Given the description of an element on the screen output the (x, y) to click on. 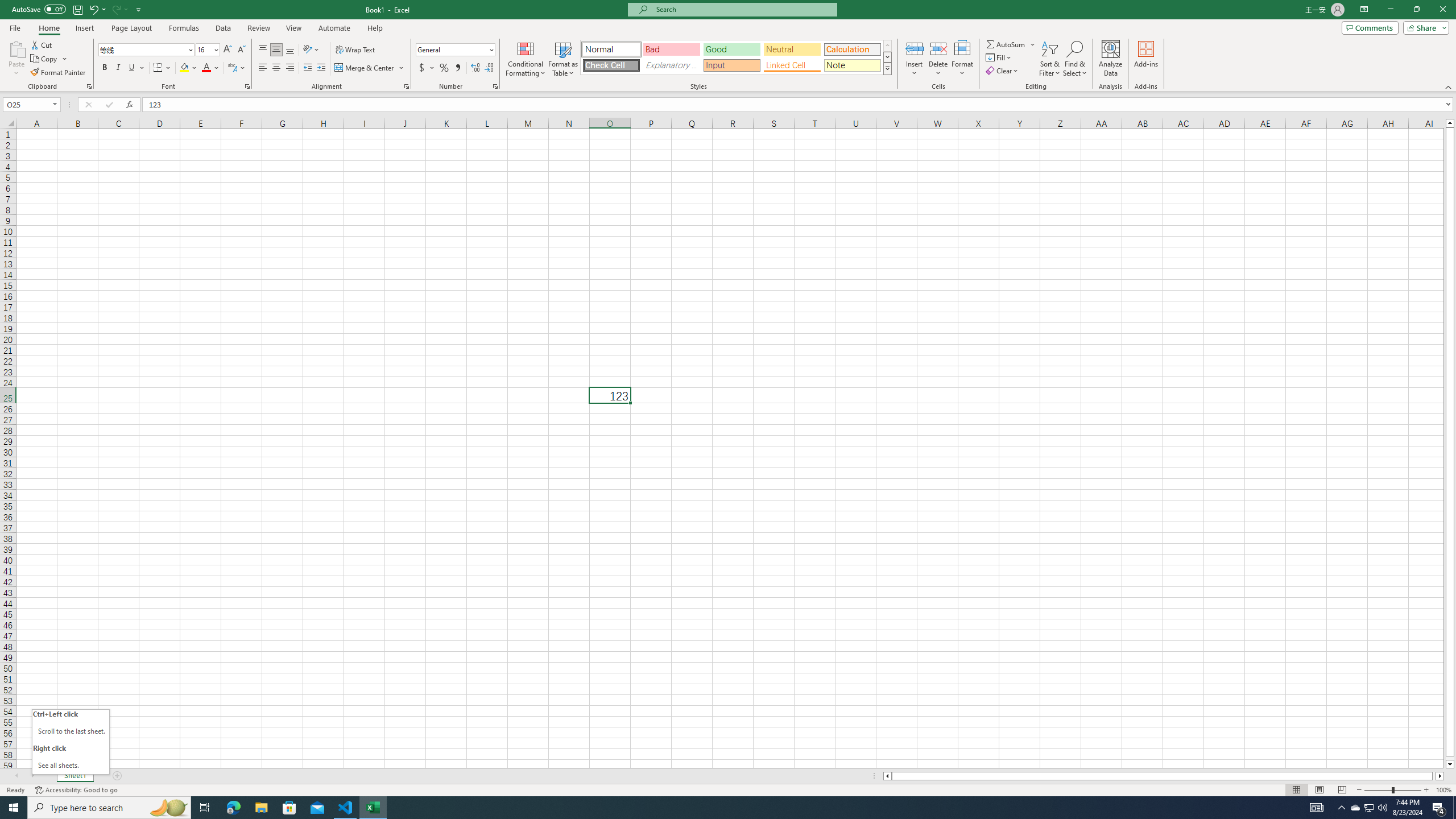
Office Clipboard... (88, 85)
Bold (104, 67)
Conditional Formatting (525, 58)
Align Right (290, 67)
Find & Select (1075, 58)
Wrap Text (355, 49)
Merge & Center (369, 67)
Paste (16, 48)
